Given the description of an element on the screen output the (x, y) to click on. 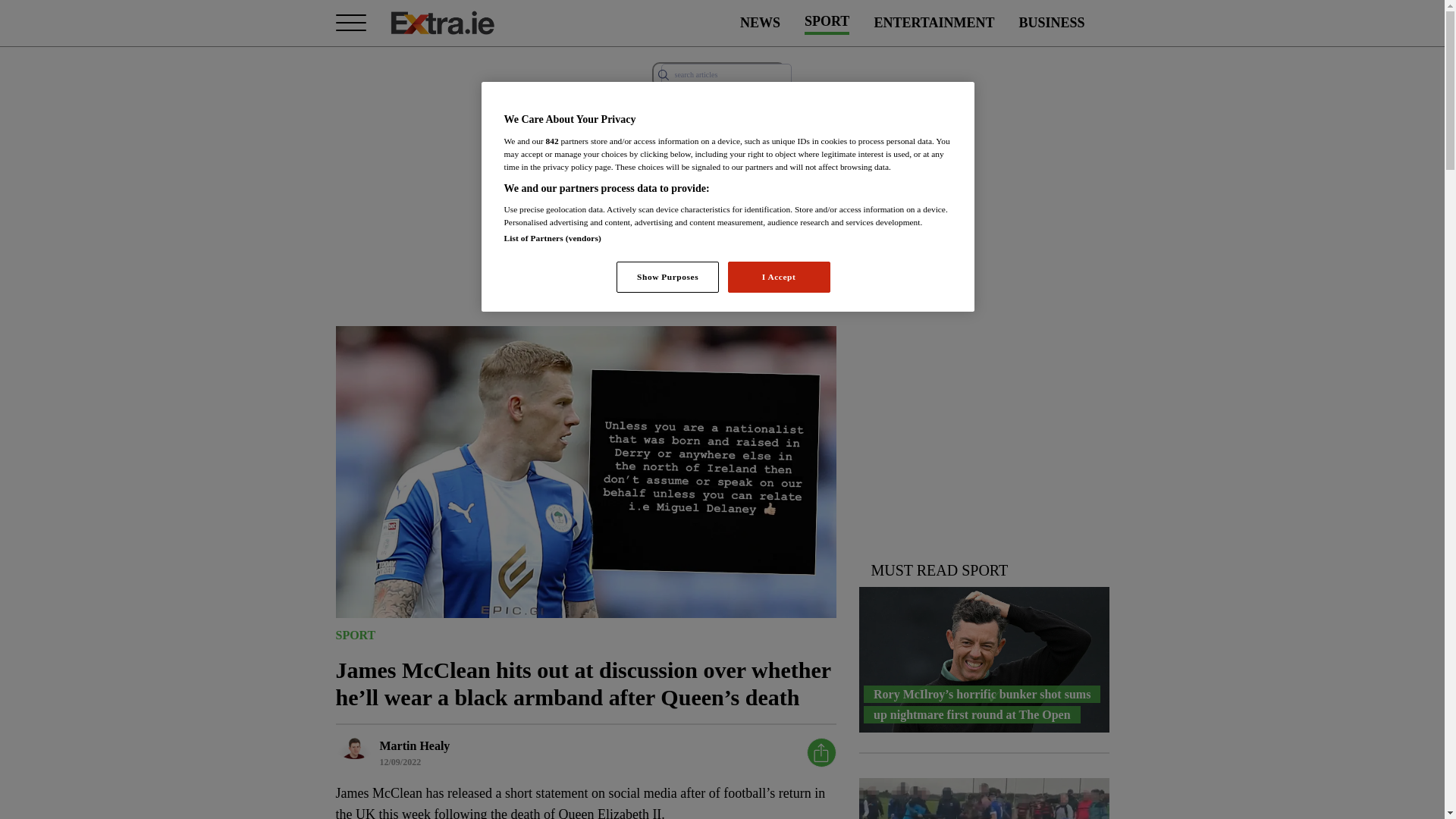
BUSINESS (1050, 23)
NEWS (759, 23)
SPORT (354, 634)
SPORT (826, 23)
ENTERTAINMENT (933, 23)
Submit the search query (662, 73)
Martin Healy (413, 744)
